Given the description of an element on the screen output the (x, y) to click on. 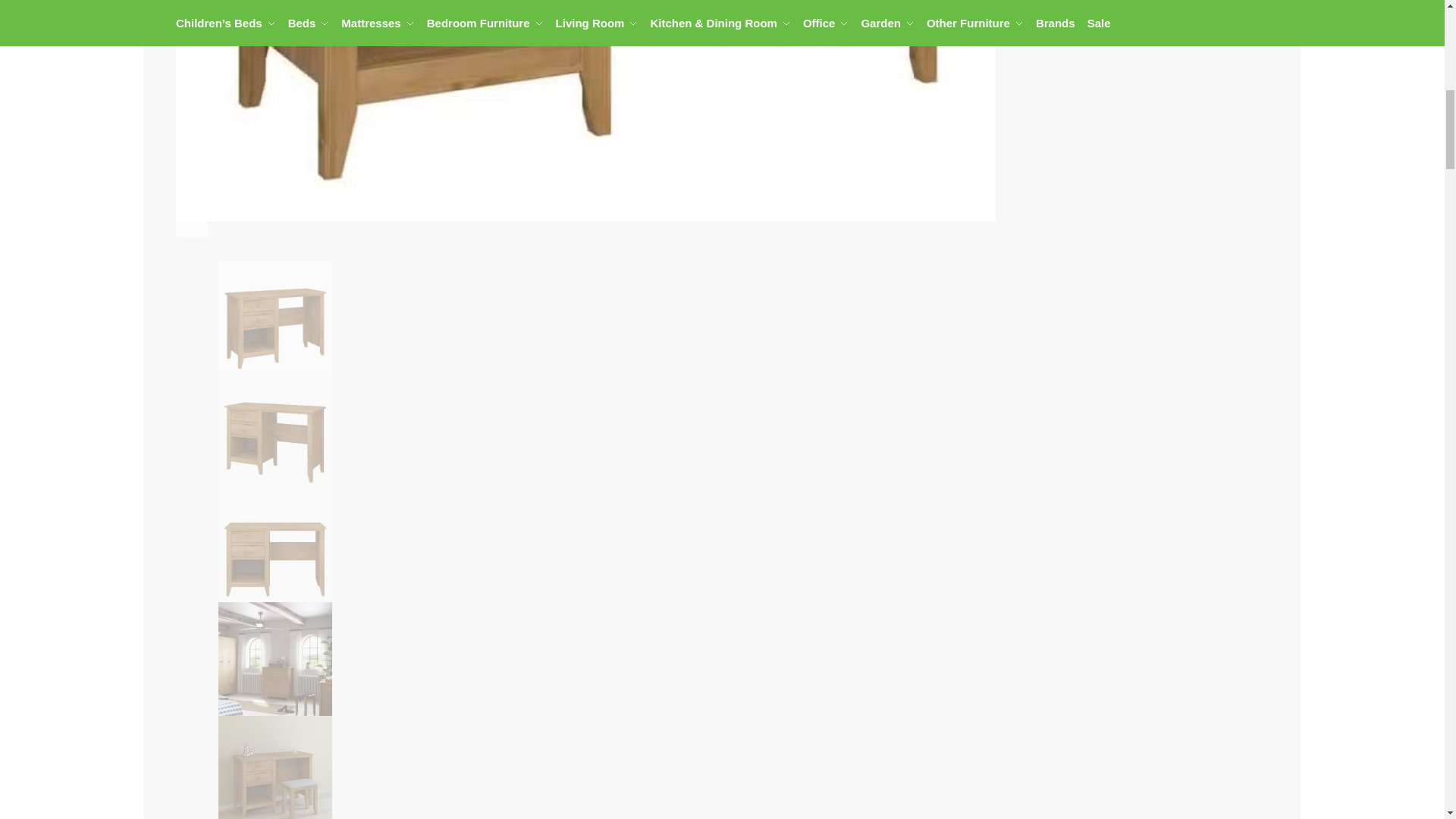
Furniture To Go Heston Desk Pine (274, 317)
Furniture To Go Heston Desk Pine (274, 544)
Furniture To Go Heston Desk Pine (274, 431)
